Given the description of an element on the screen output the (x, y) to click on. 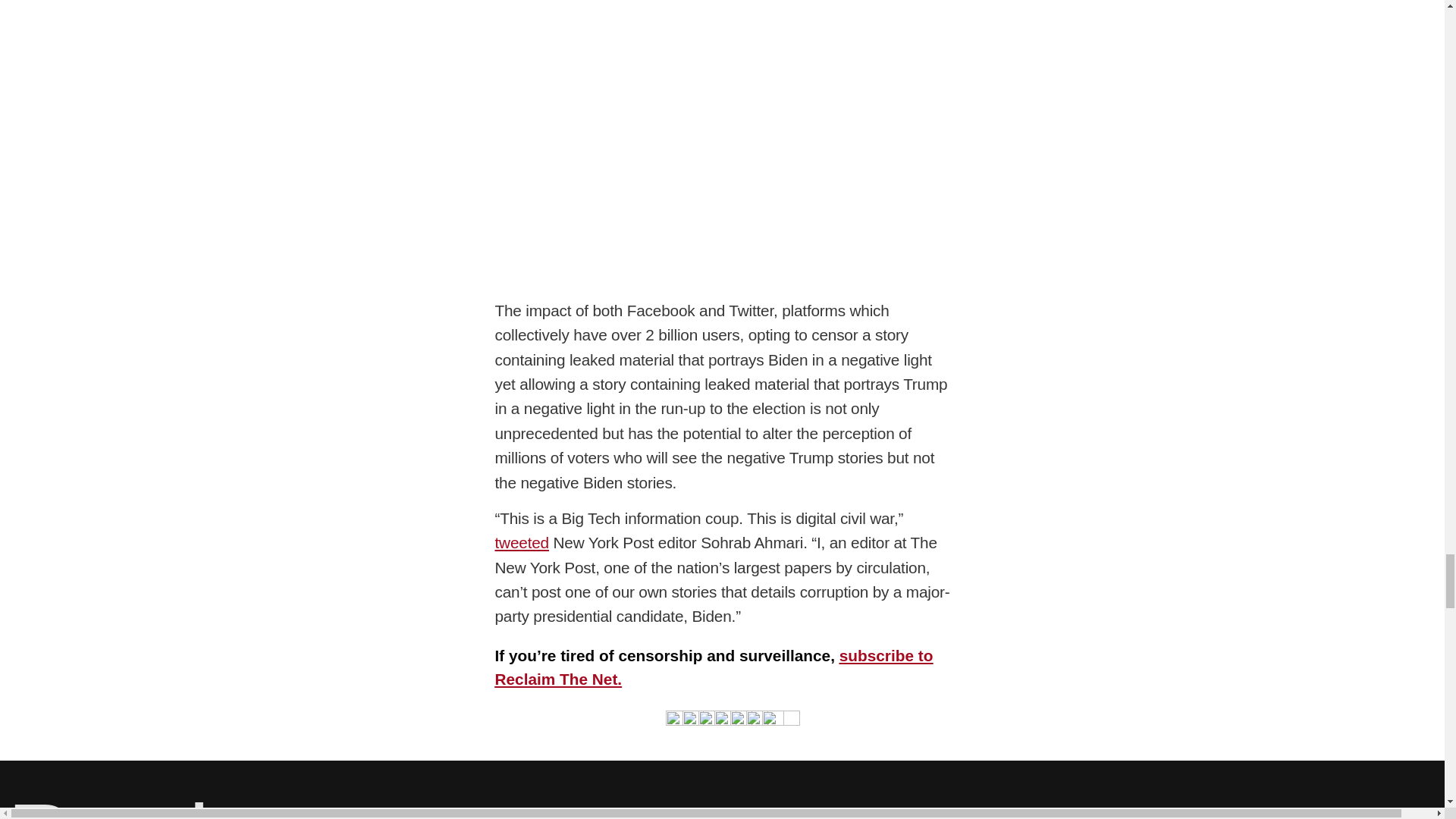
subscribe to Reclaim The Net. (714, 667)
tweeted (521, 542)
